Given the description of an element on the screen output the (x, y) to click on. 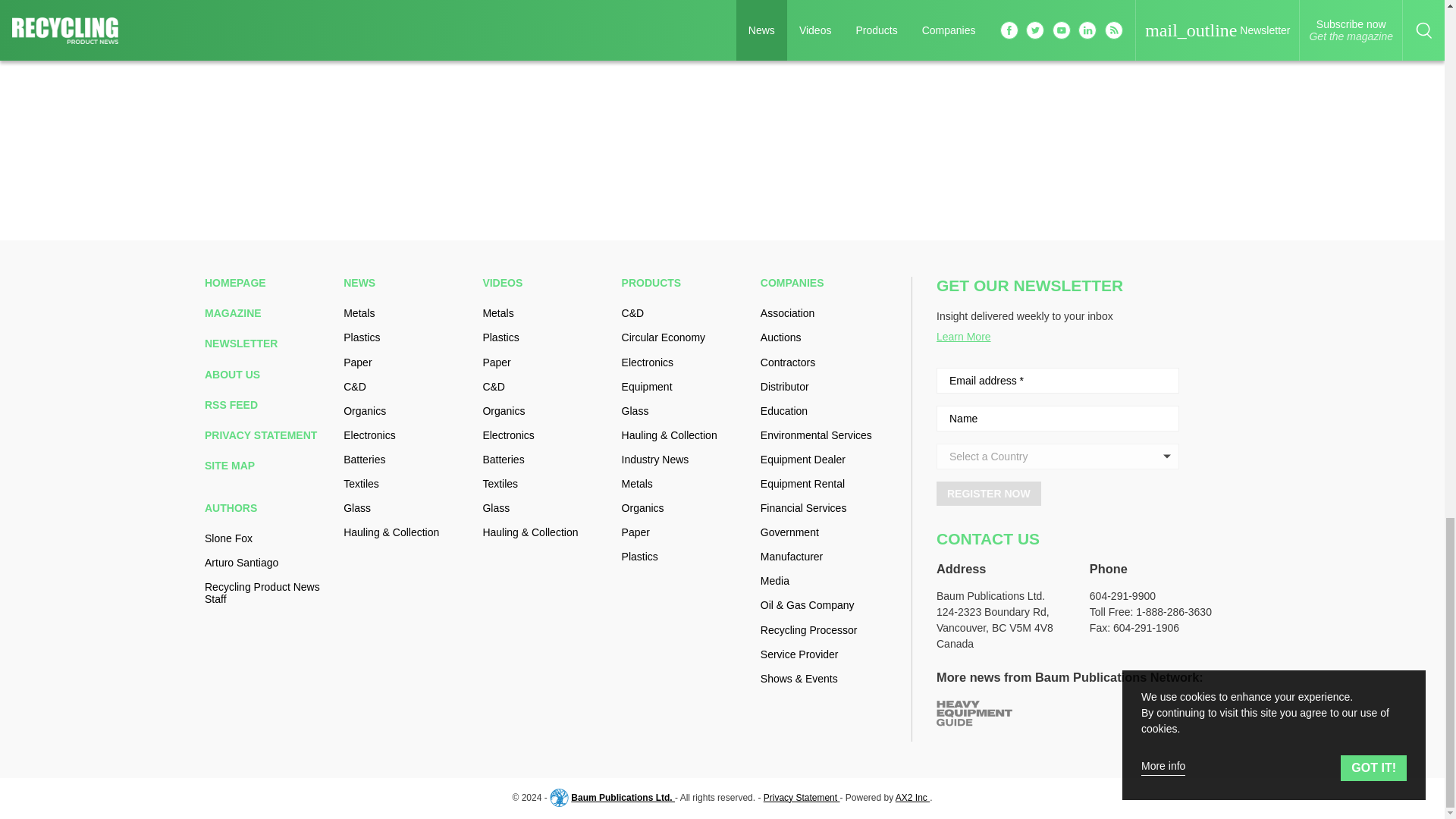
MAGAZINE (268, 313)
ABOUT US (268, 374)
Paper (406, 362)
RSS FEED (268, 404)
3rd party ad content (1125, 88)
Arturo Santiago (268, 562)
HOMEPAGE (268, 282)
Electronics (406, 435)
Organics (406, 410)
SITE MAP (268, 465)
Metals (406, 313)
NEWSLETTER (268, 343)
NEWS (406, 282)
Plastics (406, 337)
Slone Fox (268, 538)
